Given the description of an element on the screen output the (x, y) to click on. 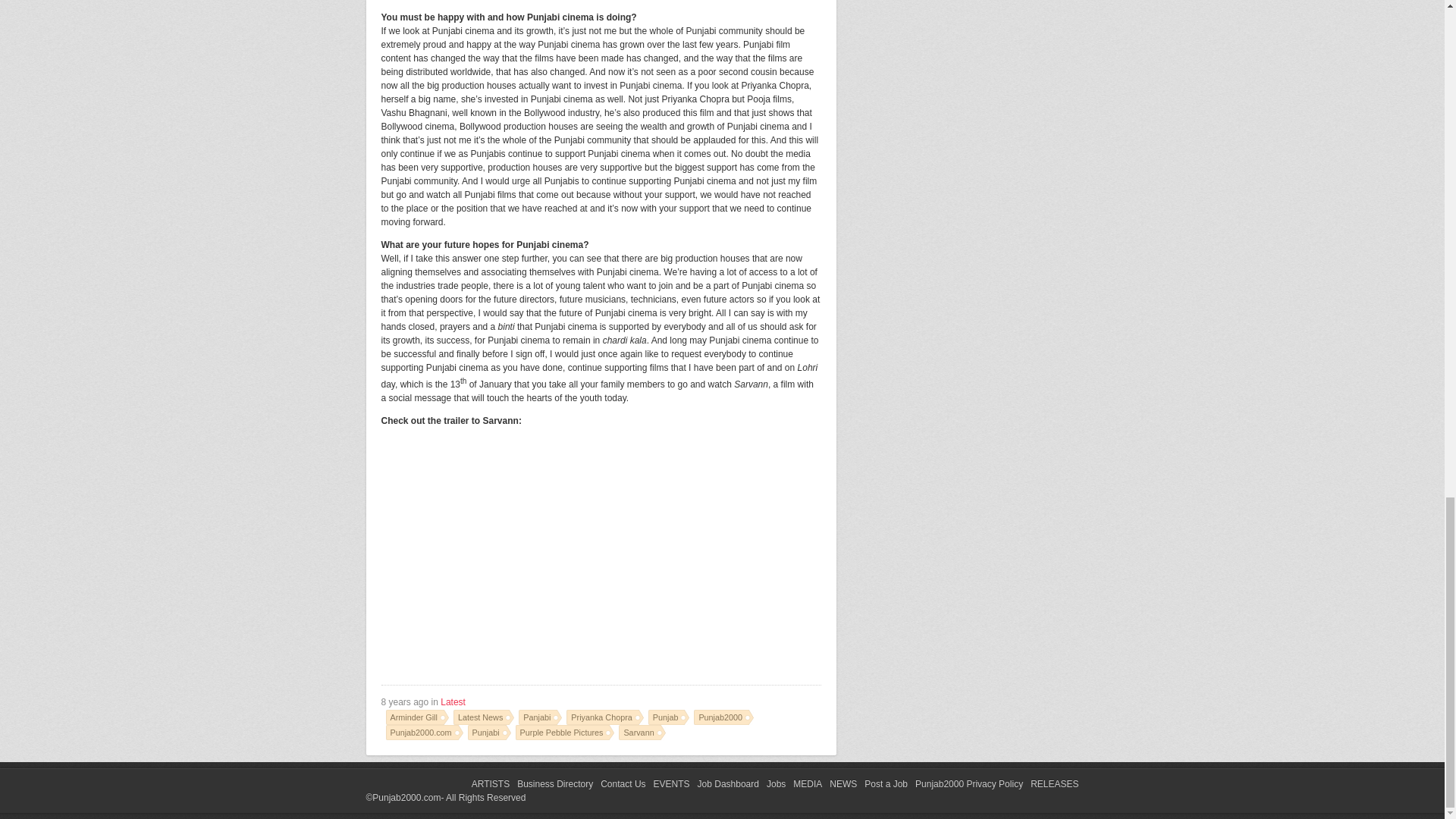
Punjab2000.com (424, 732)
Latest (453, 701)
Arminder Gill (416, 717)
Punjabi (489, 732)
Punjab2000 (724, 717)
Latest News (482, 717)
Punjab (668, 717)
Panjabi (540, 717)
Priyanka Chopra (604, 717)
